Given the description of an element on the screen output the (x, y) to click on. 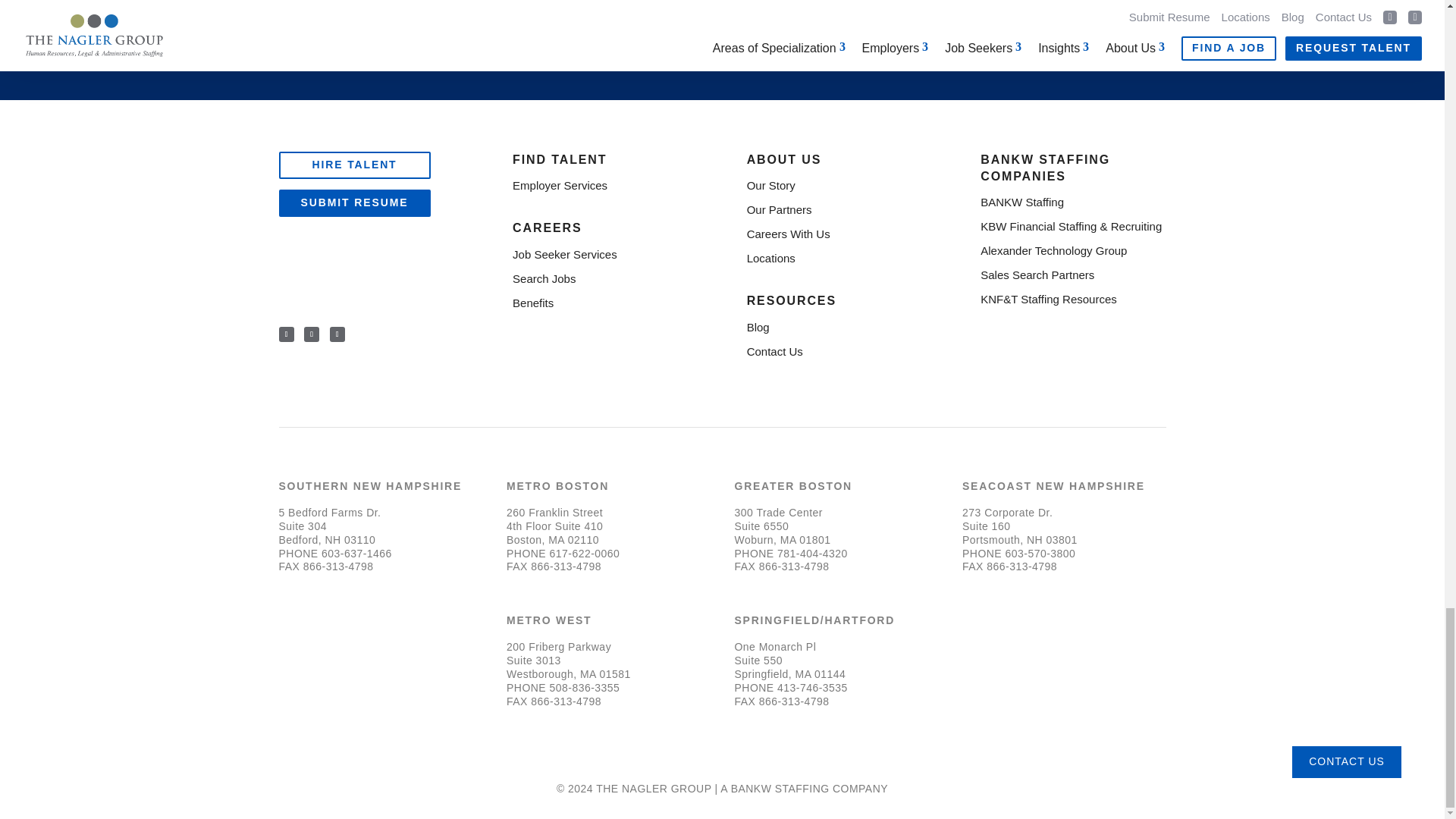
Follow on LinkedIn (311, 334)
nagler-new-logo (336, 285)
Follow on Facebook (286, 334)
Connect Me With Local Talent (975, 18)
Follow on X (337, 334)
